Given the description of an element on the screen output the (x, y) to click on. 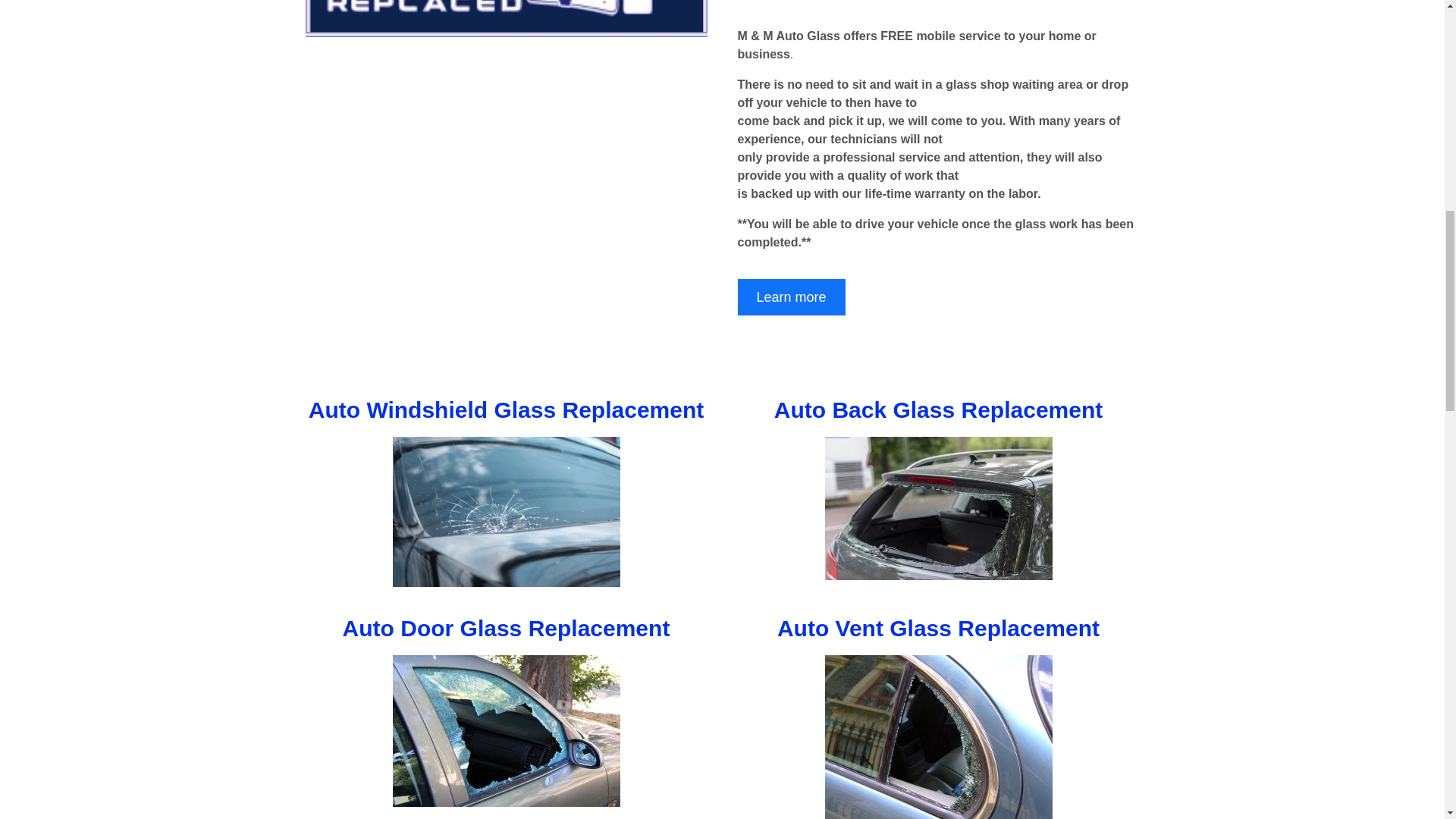
Learn more (790, 297)
Auto Vent Glass Replacement (938, 627)
Auto Windshield Glass Replacement (506, 409)
Auto Door Glass Replacement (505, 627)
Auto Back Glass Replacement (938, 409)
